Given the description of an element on the screen output the (x, y) to click on. 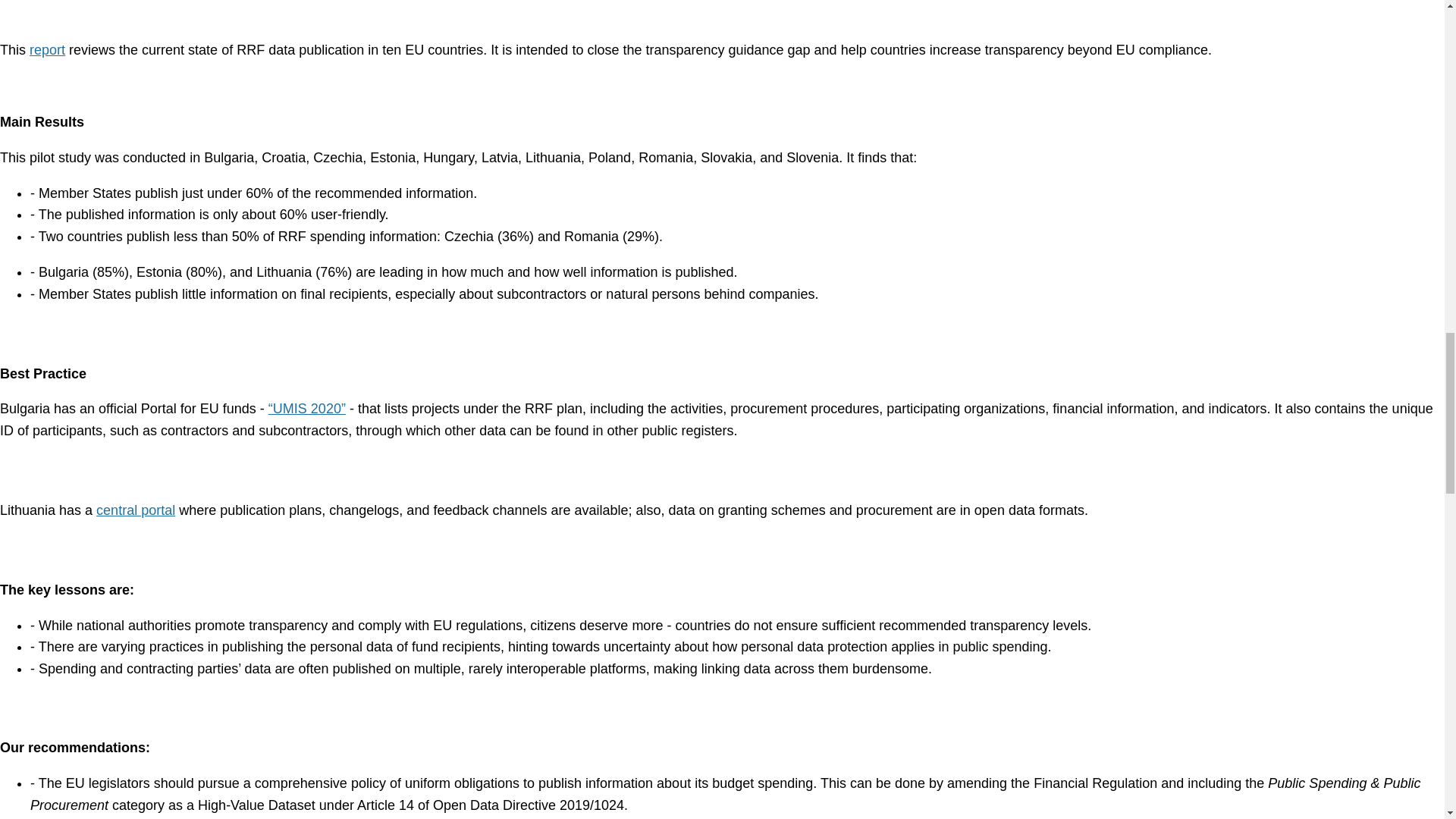
central portal (135, 509)
report (47, 49)
